Given the description of an element on the screen output the (x, y) to click on. 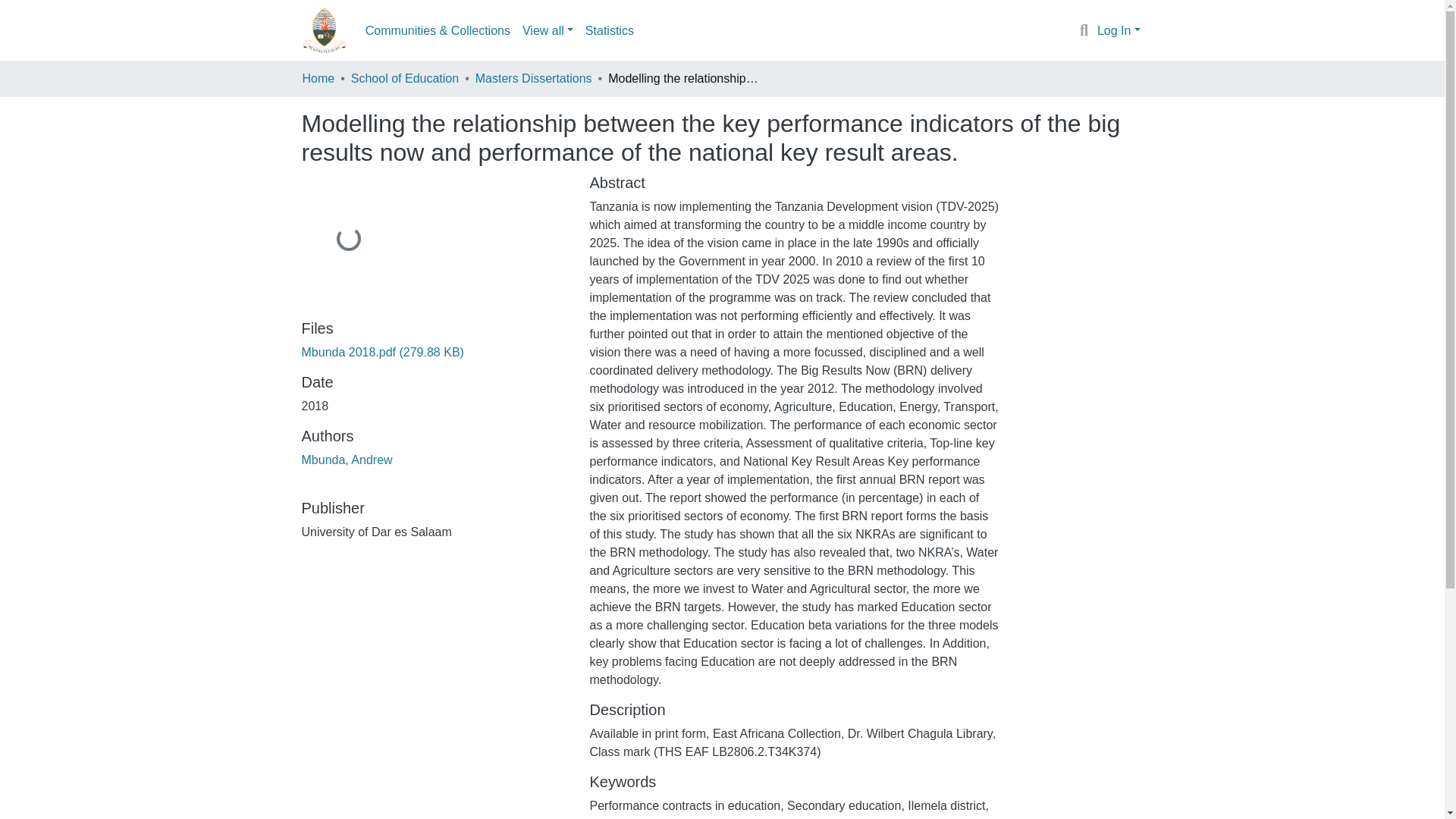
Statistics (609, 30)
School of Education (404, 78)
Masters Dissertations (534, 78)
Mbunda, Andrew (347, 459)
Search (1084, 30)
View all (547, 30)
Log In (1118, 30)
Home (317, 78)
Statistics (609, 30)
